Given the description of an element on the screen output the (x, y) to click on. 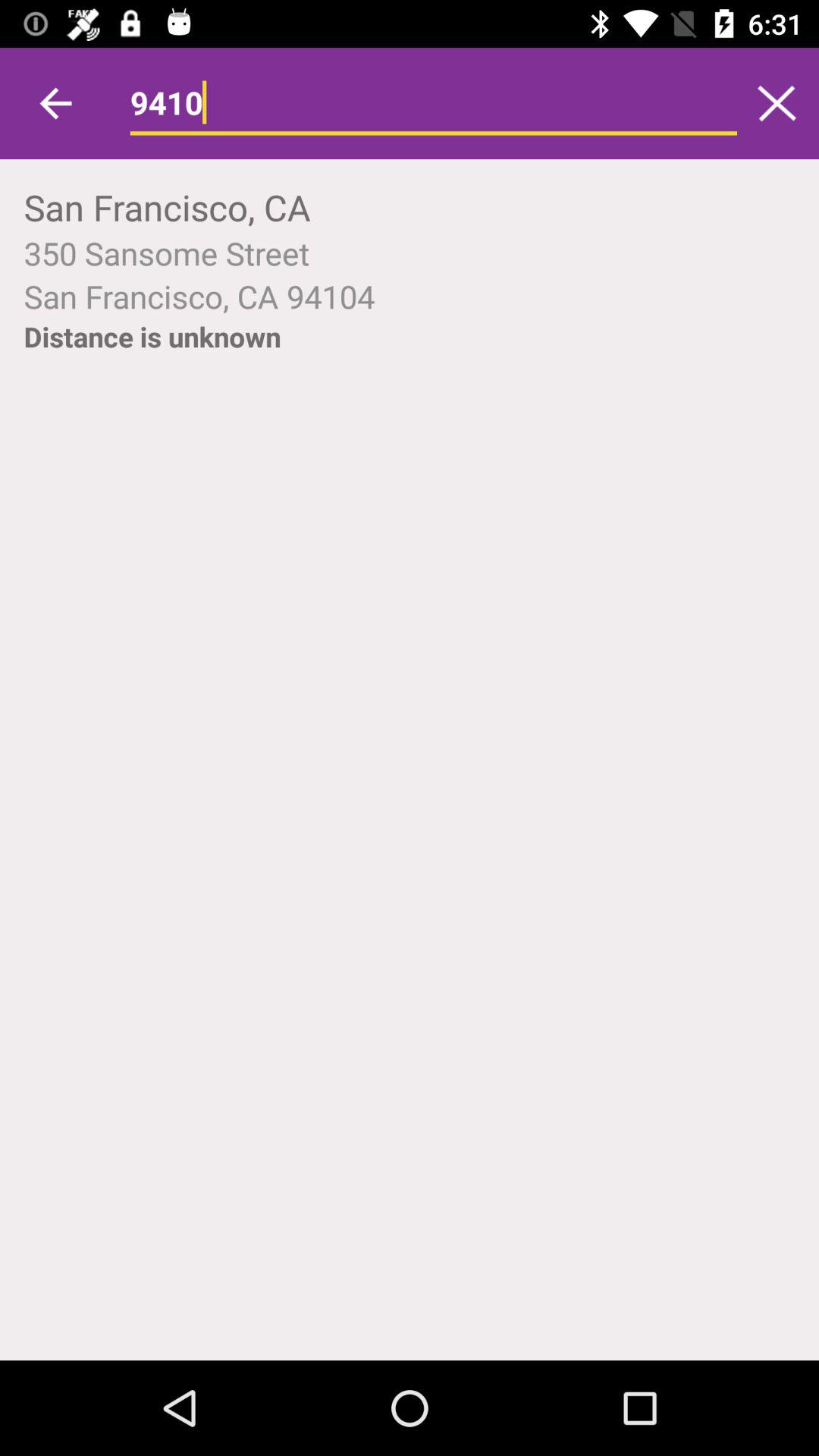
tap the distance is unknown (151, 336)
